Given the description of an element on the screen output the (x, y) to click on. 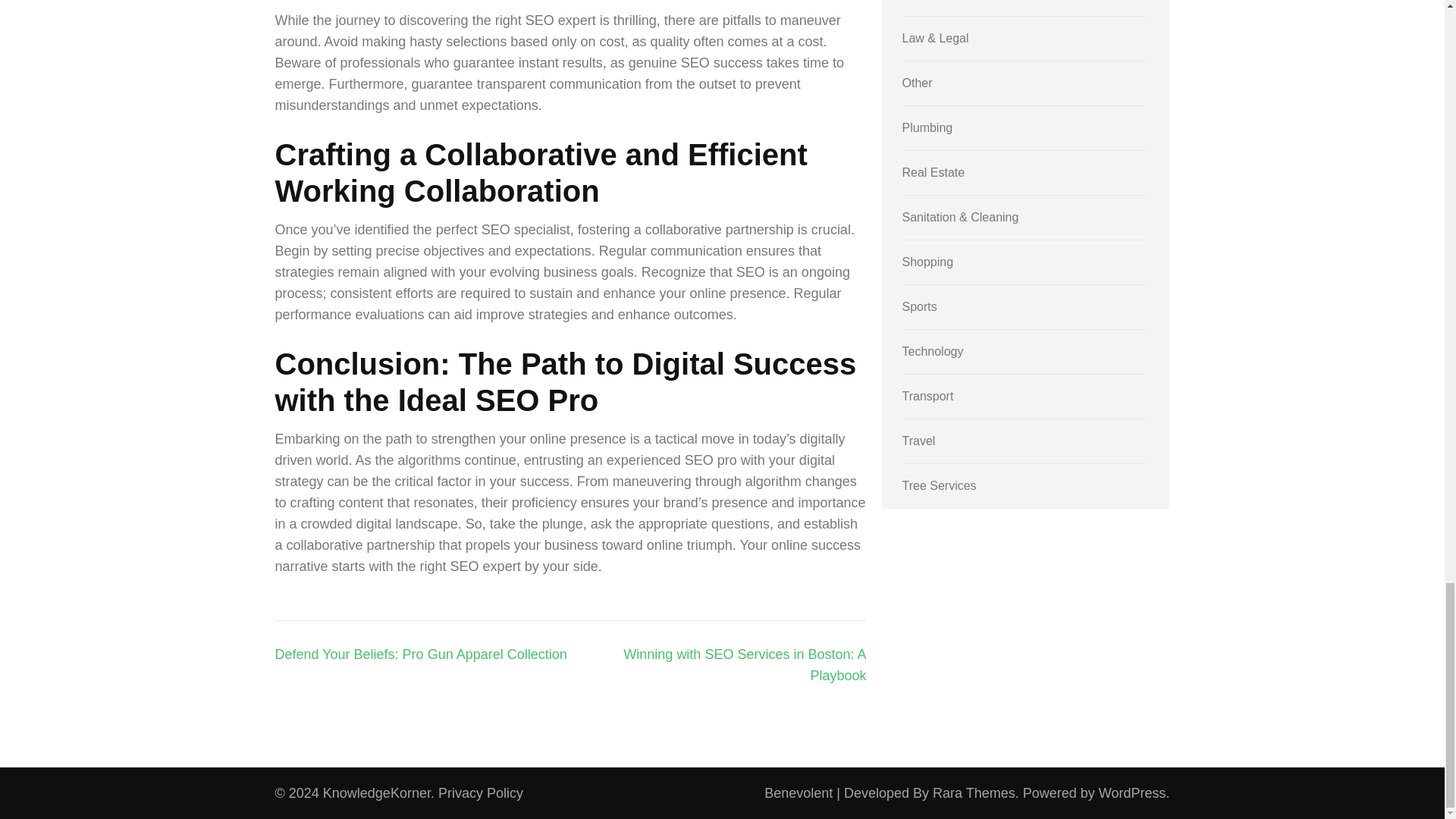
Winning with SEO Services in Boston: A Playbook (744, 665)
Defend Your Beliefs: Pro Gun Apparel Collection (420, 654)
